Given the description of an element on the screen output the (x, y) to click on. 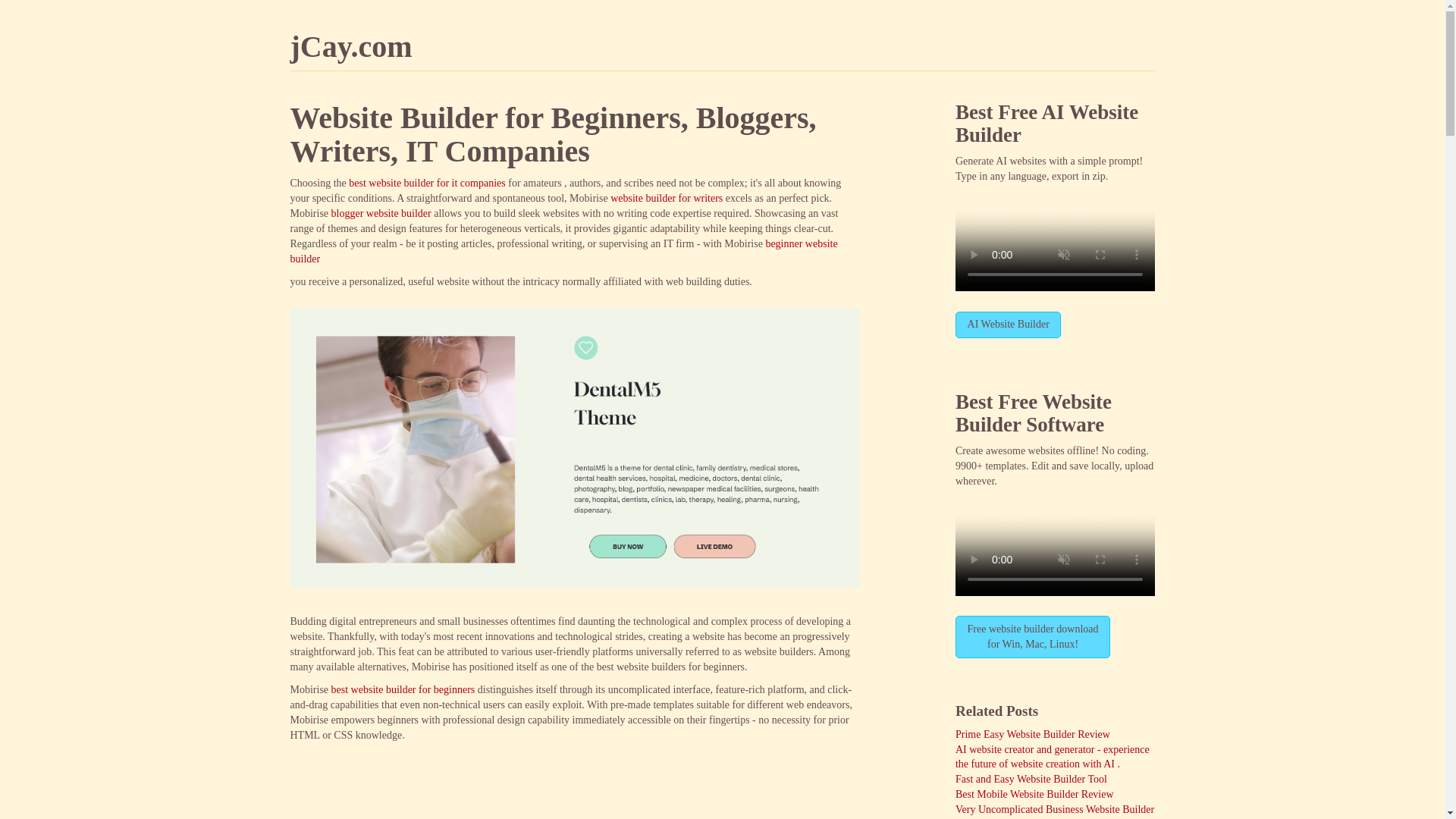
Fast and Easy Website Builder Tool (1030, 778)
beginner website builder (563, 251)
AI Website Builder (1046, 123)
jCay.com (350, 46)
AI Website Builder (1008, 325)
best website builder for it companies (427, 183)
blogger website builder (380, 213)
Website Builder Software (1033, 412)
website builder for writers (666, 197)
Very Uncomplicated Business Website Builder Overview (1032, 636)
best website builder for beginners (1054, 811)
Prime Easy Website Builder Review (403, 689)
Best Mobile Website Builder Review (1032, 734)
